Given the description of an element on the screen output the (x, y) to click on. 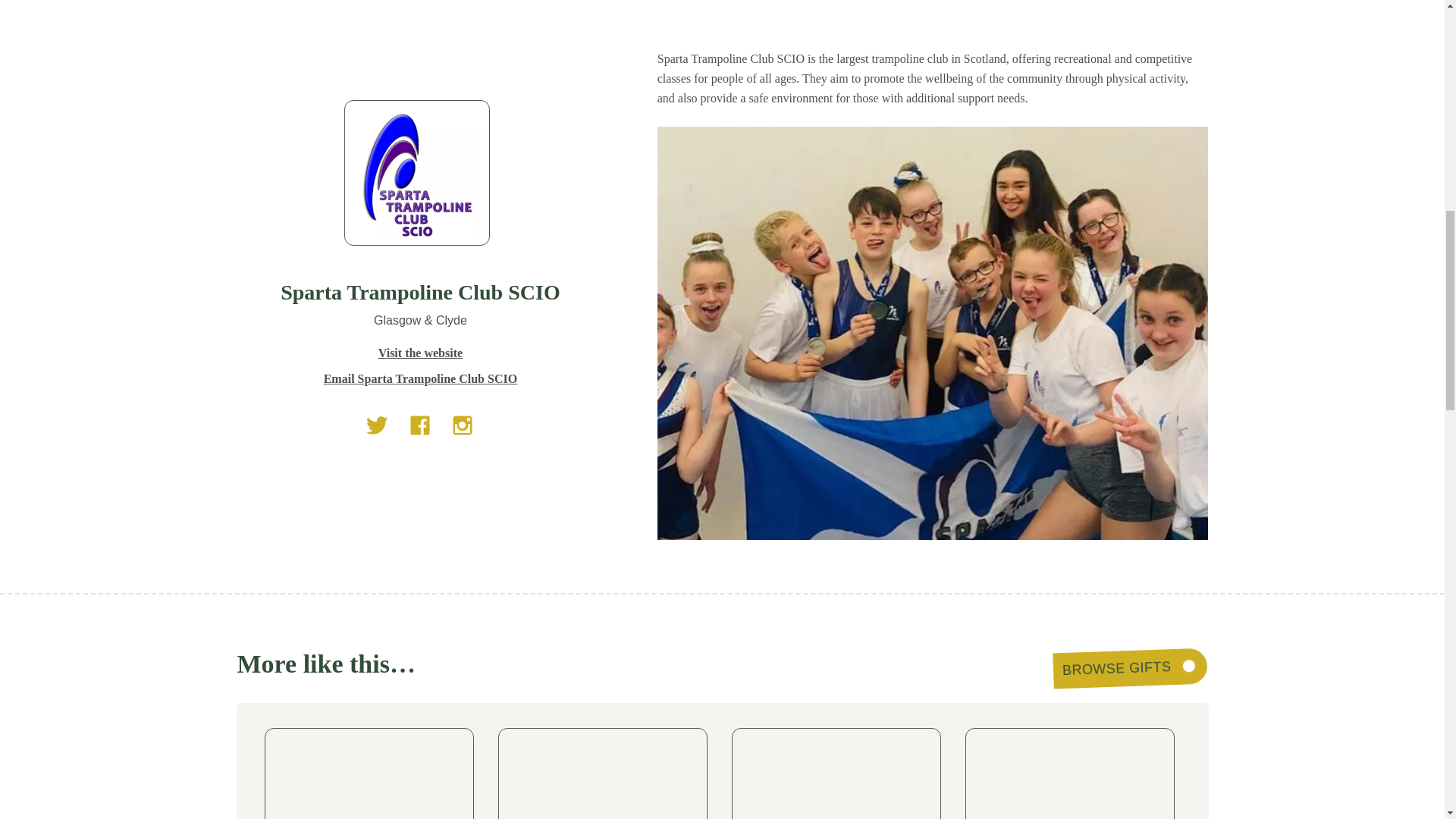
Facebook (419, 425)
Twitter (377, 425)
Instagram (461, 425)
